Given the description of an element on the screen output the (x, y) to click on. 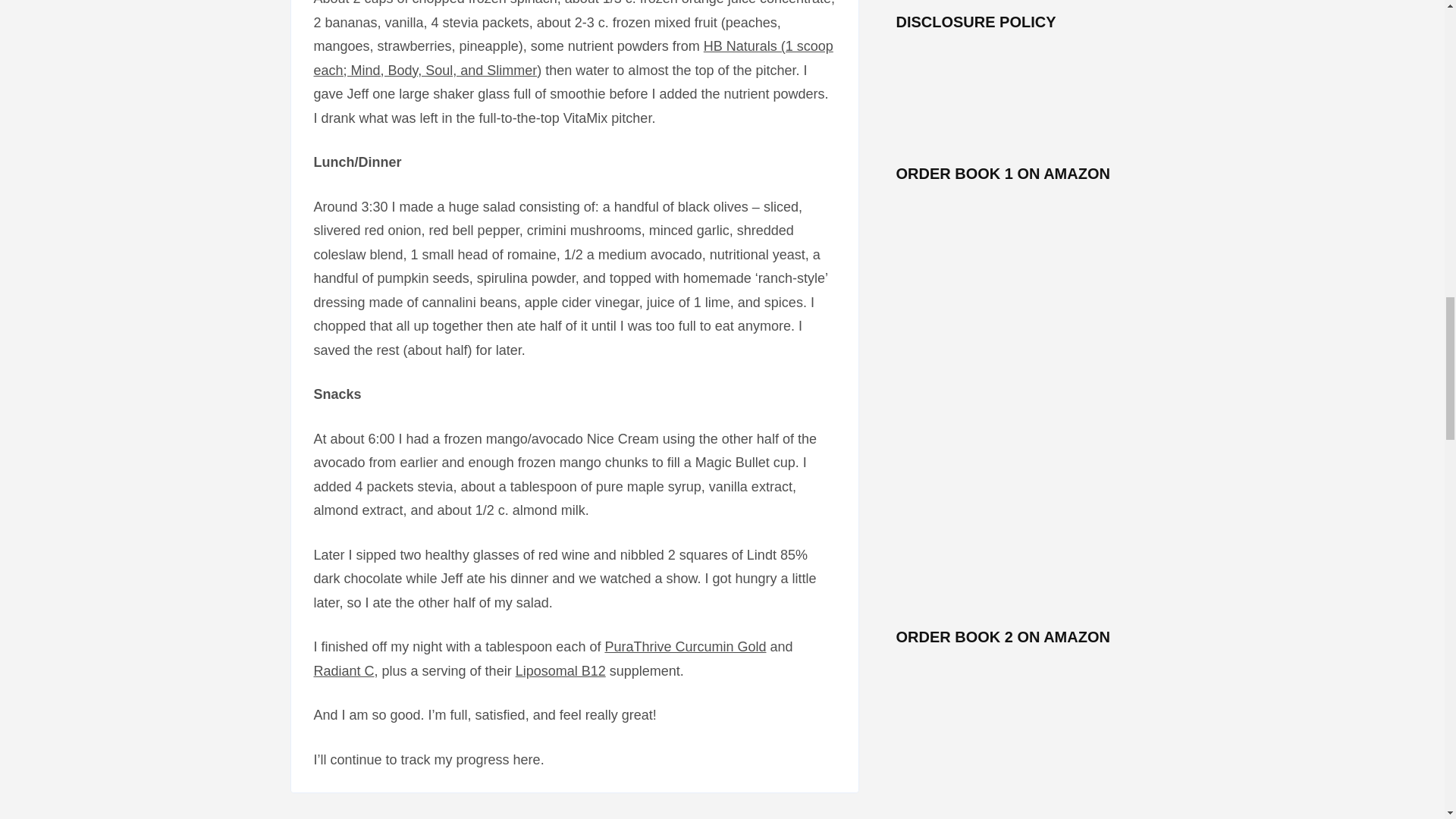
Liposomal B12 (560, 670)
PuraThrive Curcumin Gold (684, 646)
Radiant C (344, 670)
